Given the description of an element on the screen output the (x, y) to click on. 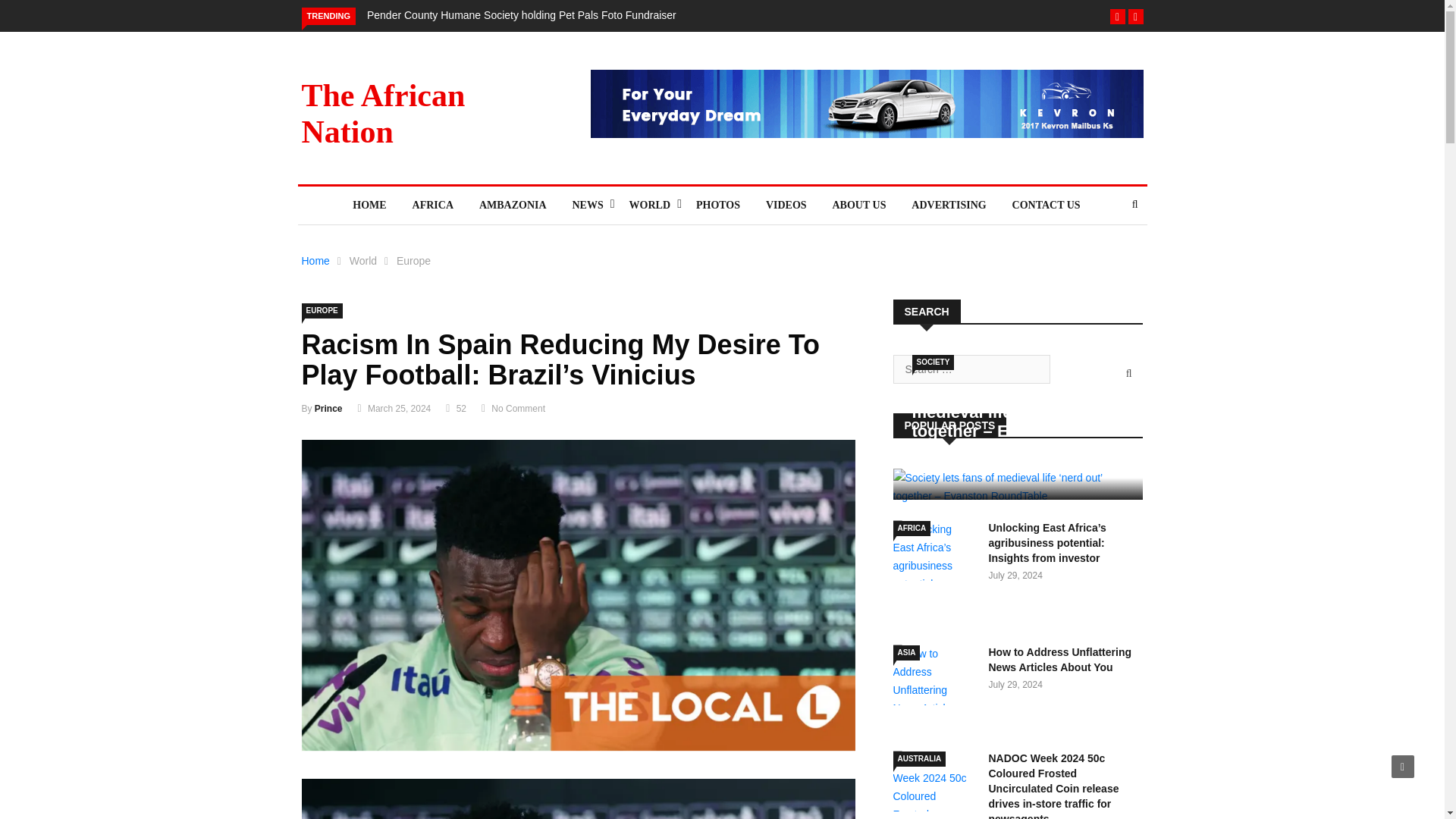
Posts by Prince (328, 408)
WORLD (649, 205)
VIDEOS (786, 205)
No Comment (518, 408)
PHOTOS (717, 205)
The African Nation (383, 113)
World (363, 260)
Home (315, 260)
Search for: (971, 369)
CONTACT US (1046, 205)
ADVERTISING (948, 205)
Prince (328, 408)
AMBAZONIA (512, 205)
NEWS (587, 205)
